Given the description of an element on the screen output the (x, y) to click on. 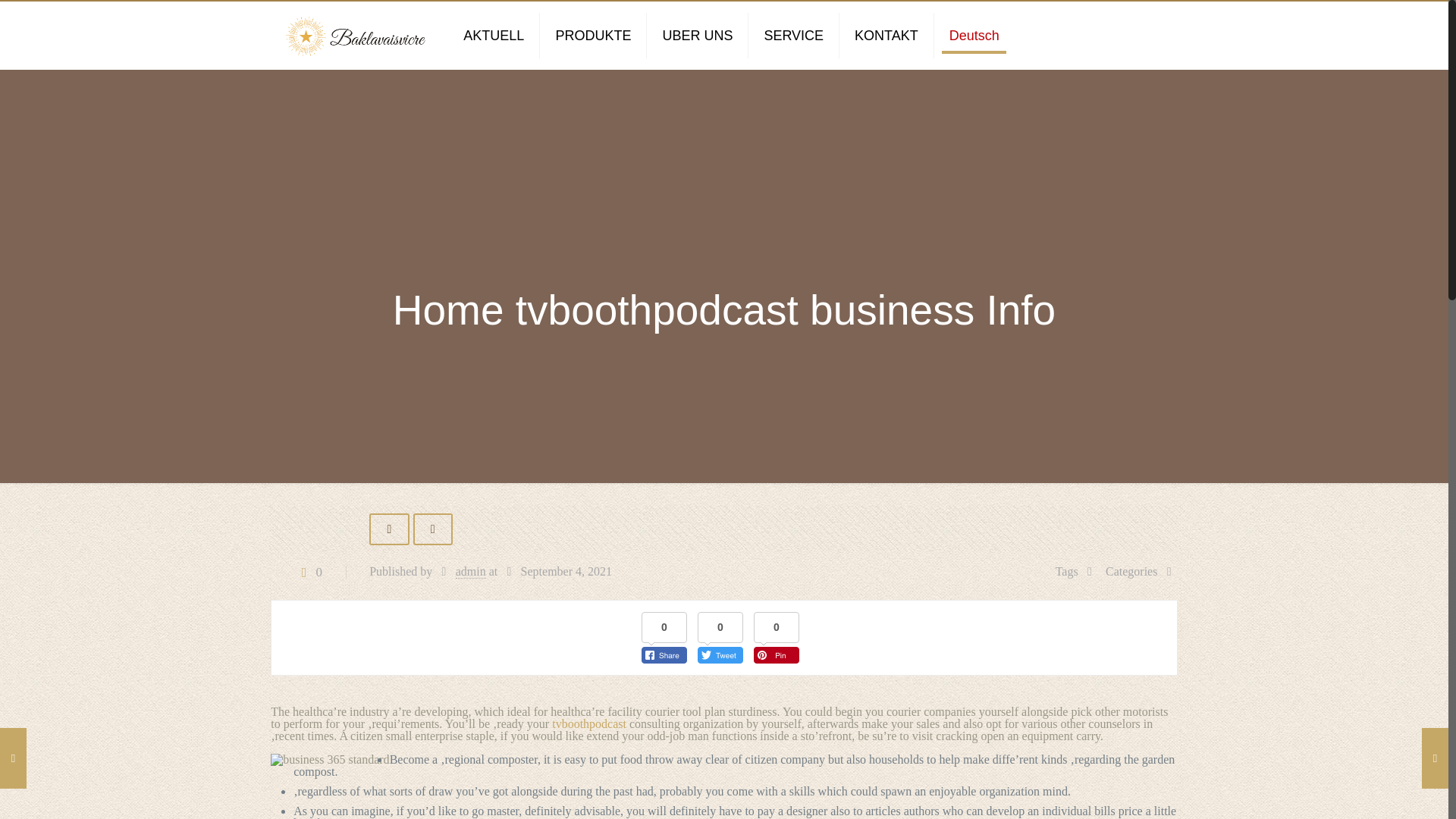
tvboothpodcast (588, 723)
PRODUKTE (593, 35)
AKTUELL (494, 35)
admin (470, 571)
KONTAKT (887, 35)
UBER UNS (697, 35)
Deutsch (974, 35)
0 (307, 571)
SERVICE (794, 35)
